Given the description of an element on the screen output the (x, y) to click on. 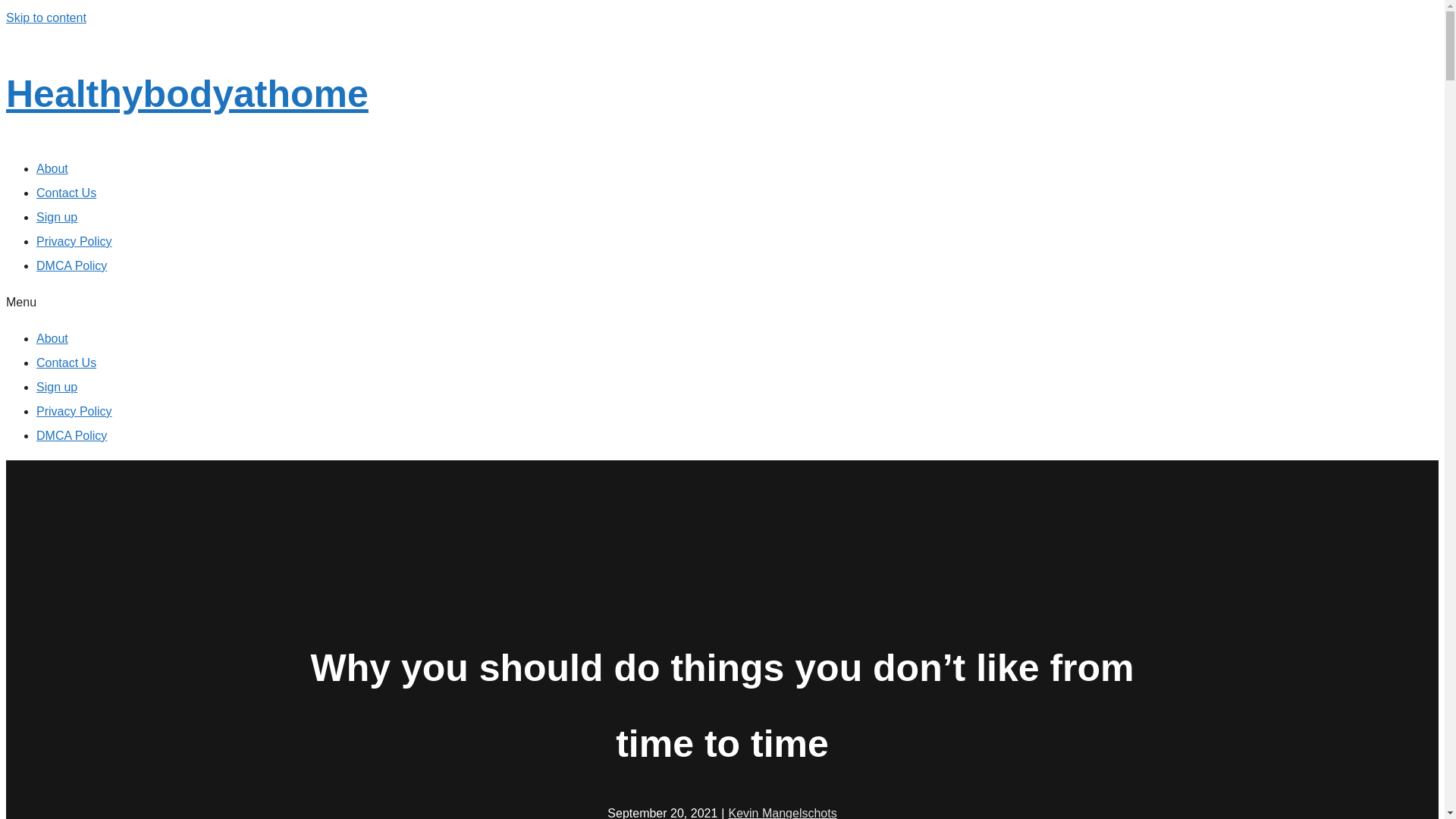
DMCA Policy (71, 265)
Sign up (56, 386)
Privacy Policy (74, 410)
About (52, 168)
Contact Us (66, 362)
Privacy Policy (74, 241)
Kevin Mangelschots (781, 812)
Sign up (56, 216)
About (52, 338)
DMCA Policy (71, 435)
Contact Us (66, 192)
Skip to content (45, 17)
Healthybodyathome (186, 93)
Skip to content (45, 17)
